Given the description of an element on the screen output the (x, y) to click on. 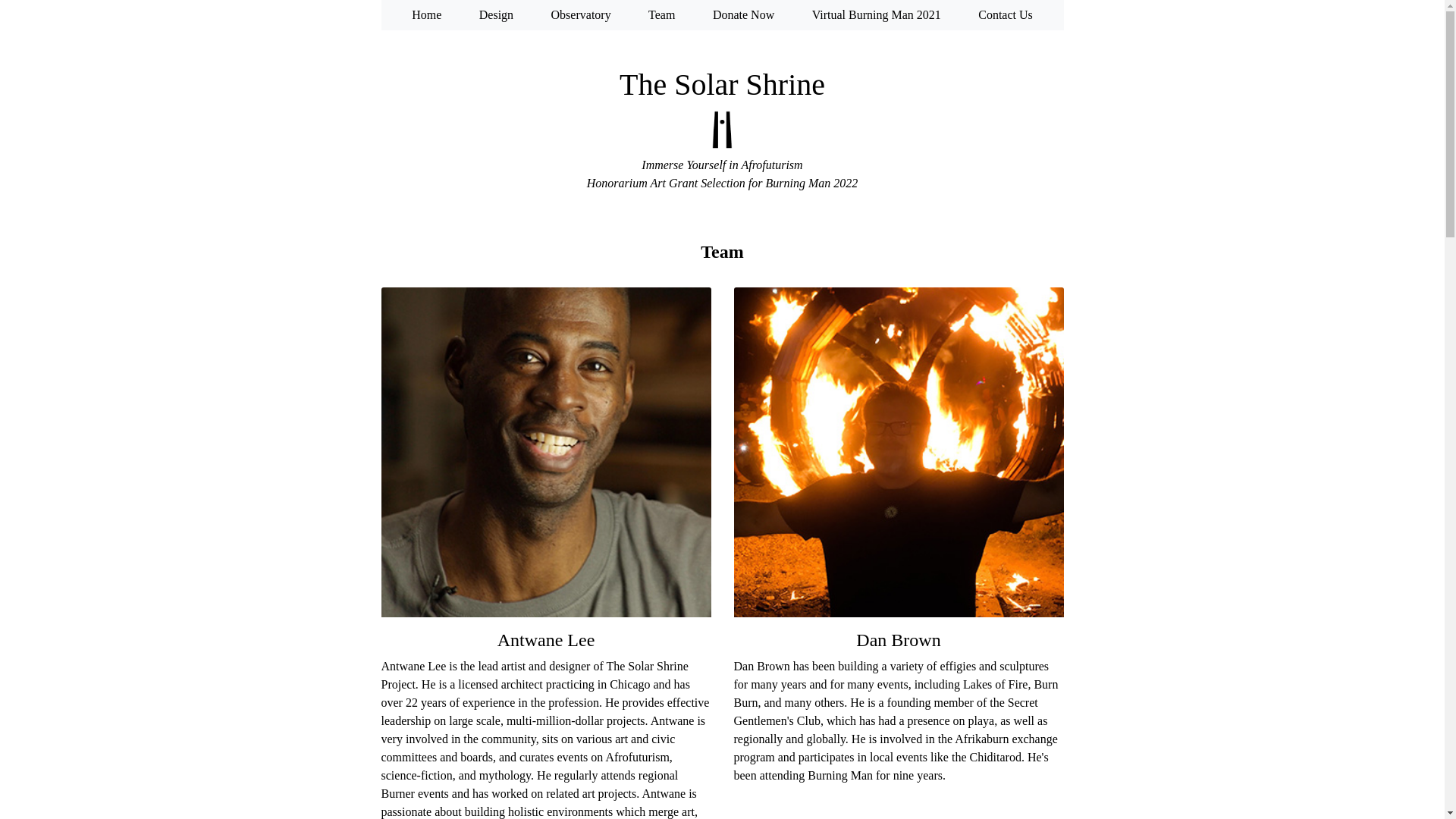
Home (426, 14)
Virtual Burning Man 2021 (876, 14)
Team (661, 14)
Contact Us (1005, 14)
Donate Now (743, 14)
Design (496, 14)
Observatory (581, 14)
